Given the description of an element on the screen output the (x, y) to click on. 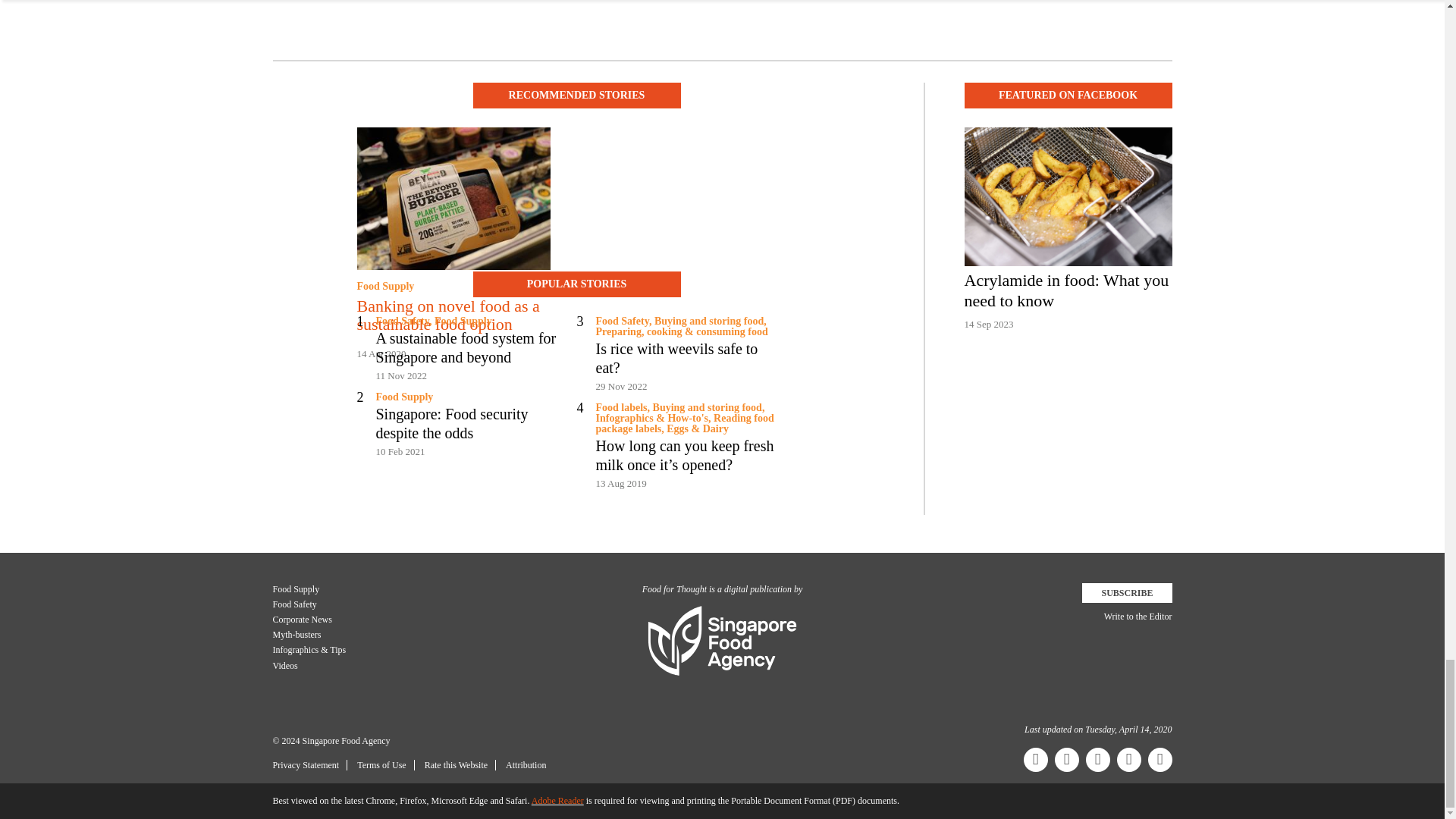
Subscribe to newsletter via email (1126, 592)
Banking on novel food as a sustainable food option (453, 315)
